Given the description of an element on the screen output the (x, y) to click on. 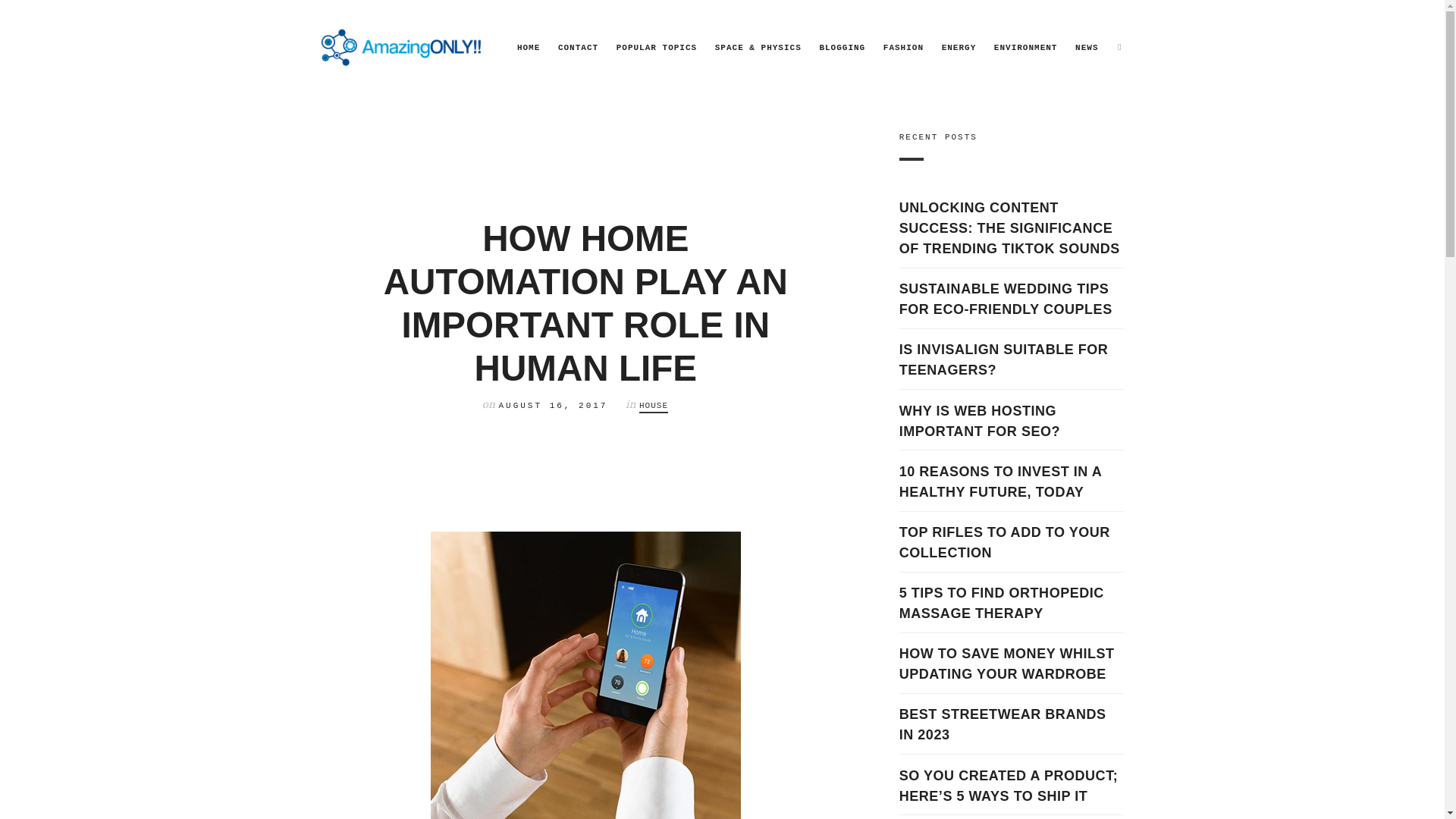
CONTACT (577, 47)
BLOGGING (841, 47)
FASHION (903, 47)
ENVIRONMENT (1026, 47)
AmazingONLY.com (402, 46)
POPULAR TOPICS (656, 47)
Search (38, 17)
HOUSE (653, 406)
